Given the description of an element on the screen output the (x, y) to click on. 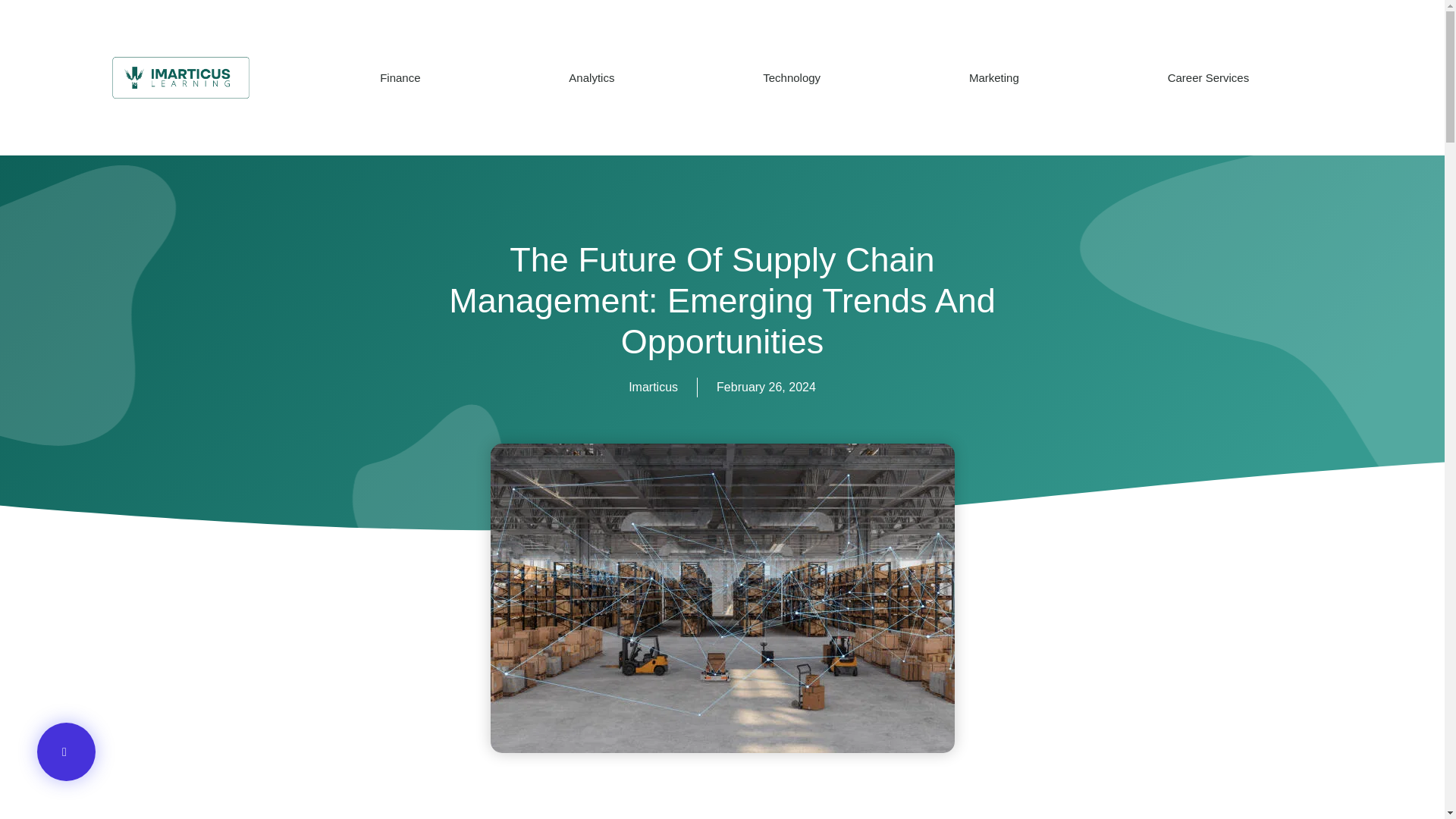
February 26, 2024 (765, 387)
Marketing (994, 77)
Analytics (591, 77)
Imarticus (653, 387)
Finance (400, 77)
Career Services (1208, 77)
Technology (791, 77)
